Given the description of an element on the screen output the (x, y) to click on. 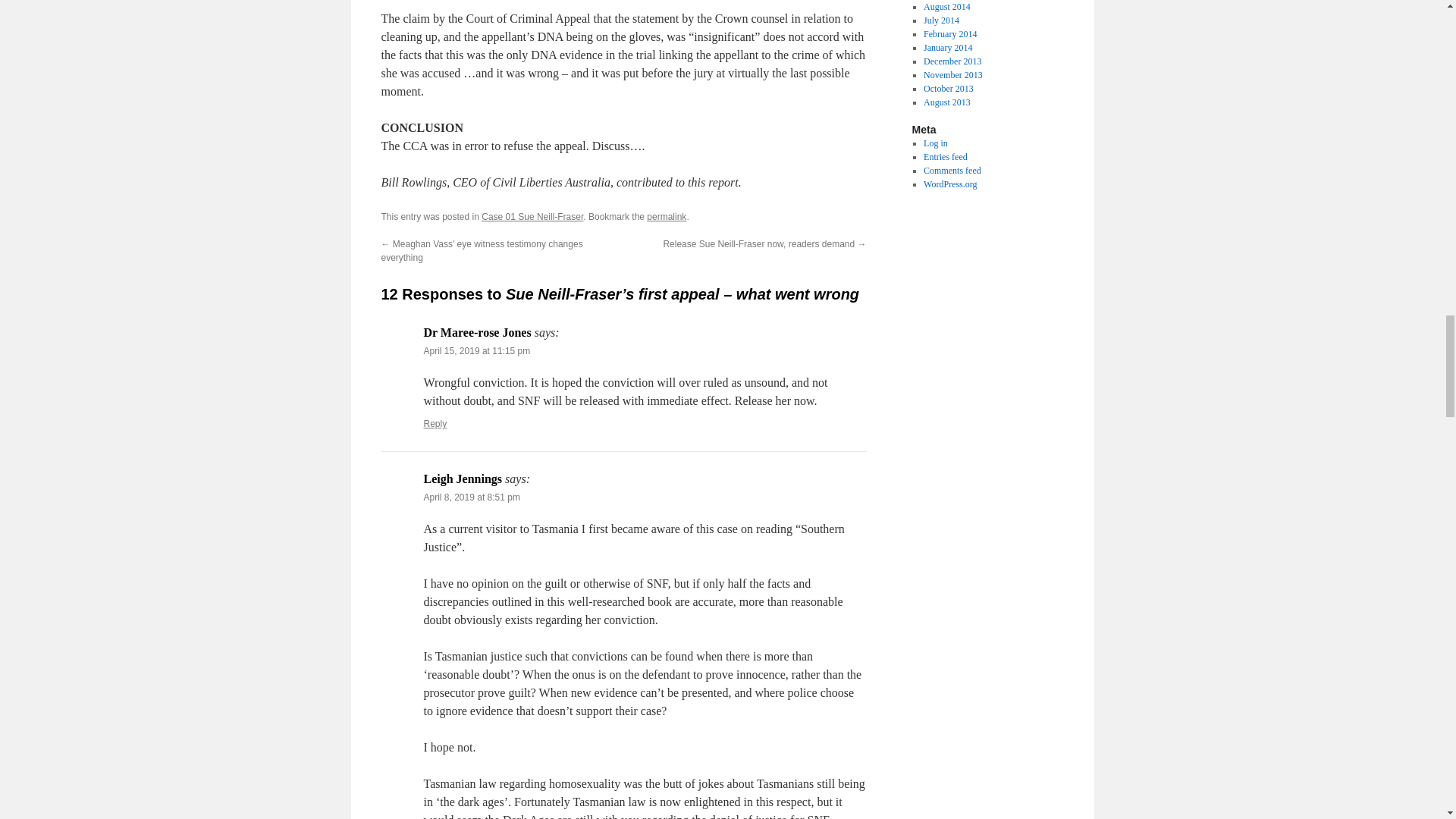
April 15, 2019 at 11:15 pm (476, 350)
permalink (665, 216)
April 8, 2019 at 8:51 pm (471, 497)
Reply (434, 423)
Case 01 Sue Neill-Fraser (532, 216)
